Given the description of an element on the screen output the (x, y) to click on. 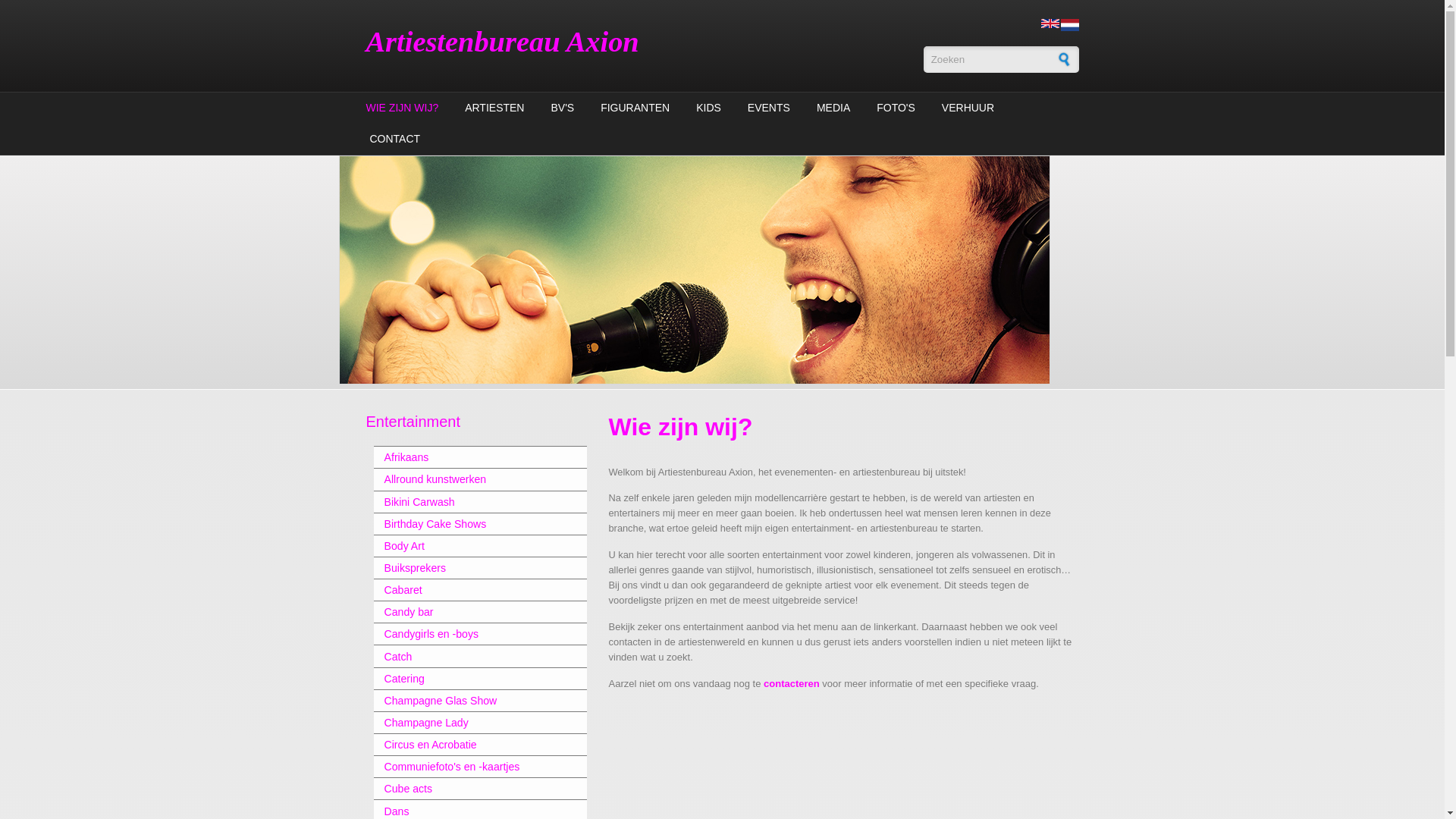
Champagne Glas Show Element type: text (469, 700)
Nederlands Element type: hover (1069, 24)
MEDIA Element type: text (832, 107)
FIGURANTEN Element type: text (634, 107)
FOTO'S Element type: text (895, 107)
WIE ZIJN WIJ? Element type: text (403, 107)
contacteren Element type: text (791, 683)
Candy bar Element type: text (469, 611)
Buiksprekers Element type: text (469, 567)
Catering Element type: text (469, 678)
Communiefoto's en -kaartjes Element type: text (469, 766)
Artiestenbureau Axion Element type: text (501, 41)
ARTIESTEN Element type: text (494, 107)
Allround kunstwerken Element type: text (469, 478)
BV'S Element type: text (561, 107)
Candygirls en -boys Element type: text (469, 633)
KIDS Element type: text (708, 107)
English Element type: hover (1049, 23)
Birthday Cake Shows Element type: text (469, 523)
Afrikaans Element type: text (469, 456)
Overslaan en naar de inhoud gaan Element type: text (74, 0)
VERHUUR Element type: text (967, 107)
EVENTS Element type: text (768, 107)
Champagne Lady Element type: text (469, 722)
Cube acts Element type: text (469, 788)
Cabaret Element type: text (469, 589)
Bikini Carwash Element type: text (469, 501)
CONTACT Element type: text (392, 138)
